Given the description of an element on the screen output the (x, y) to click on. 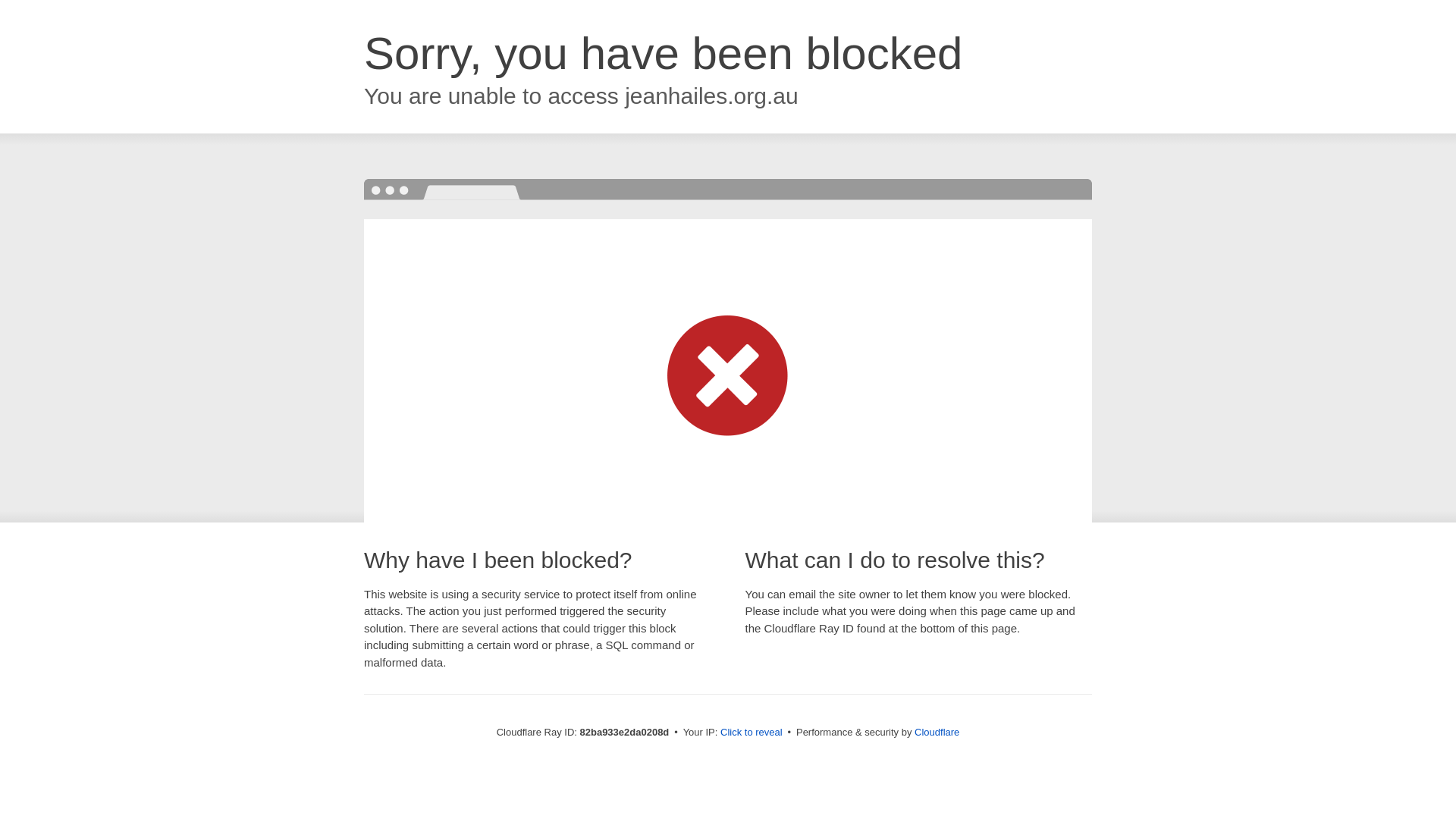
Cloudflare Element type: text (936, 731)
Click to reveal Element type: text (751, 732)
